Given the description of an element on the screen output the (x, y) to click on. 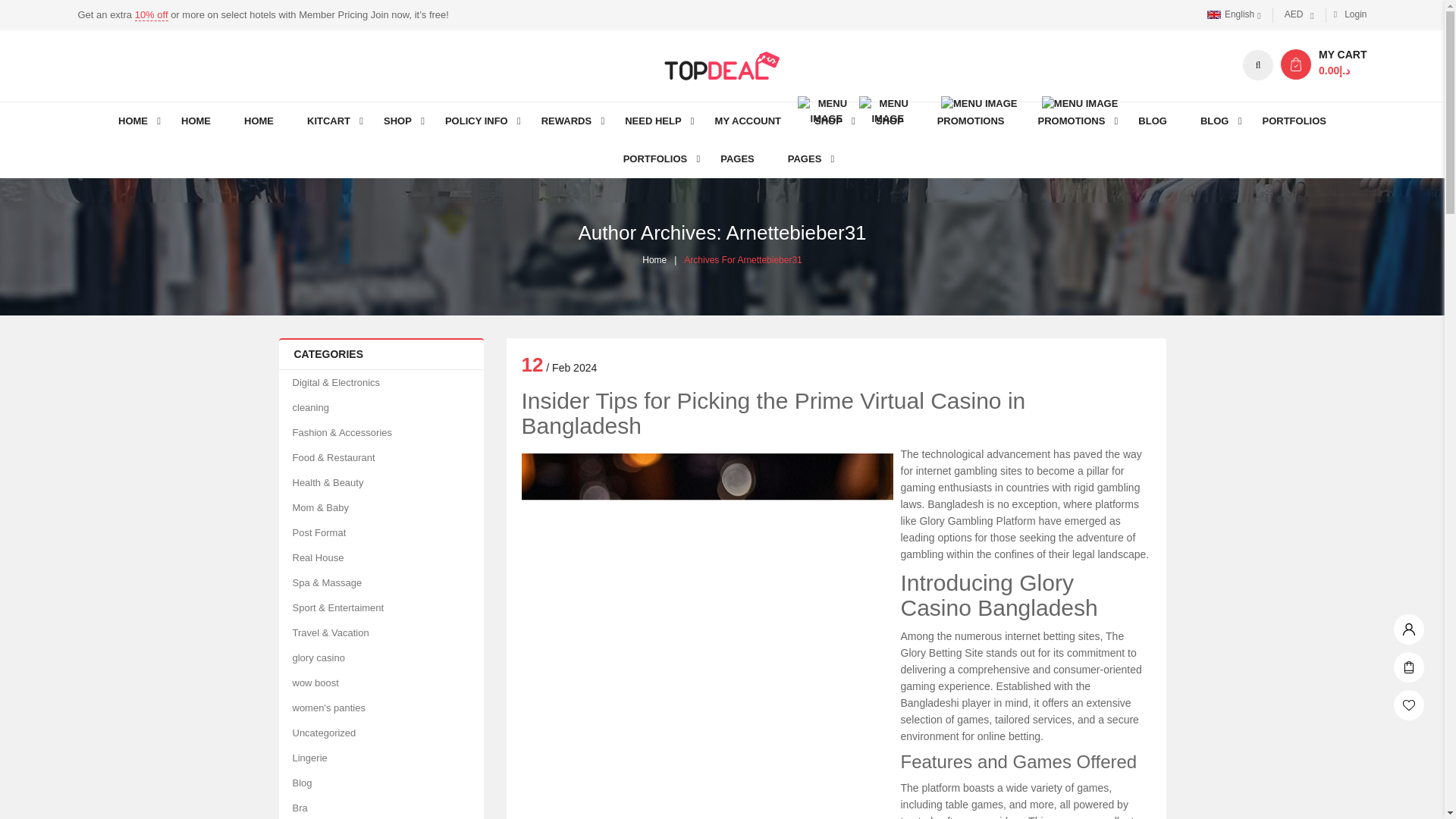
Login (1346, 14)
AED (1305, 14)
HOME (132, 121)
Original price:0 (1334, 70)
View your shopping cart (1296, 64)
English (1239, 14)
